Given the description of an element on the screen output the (x, y) to click on. 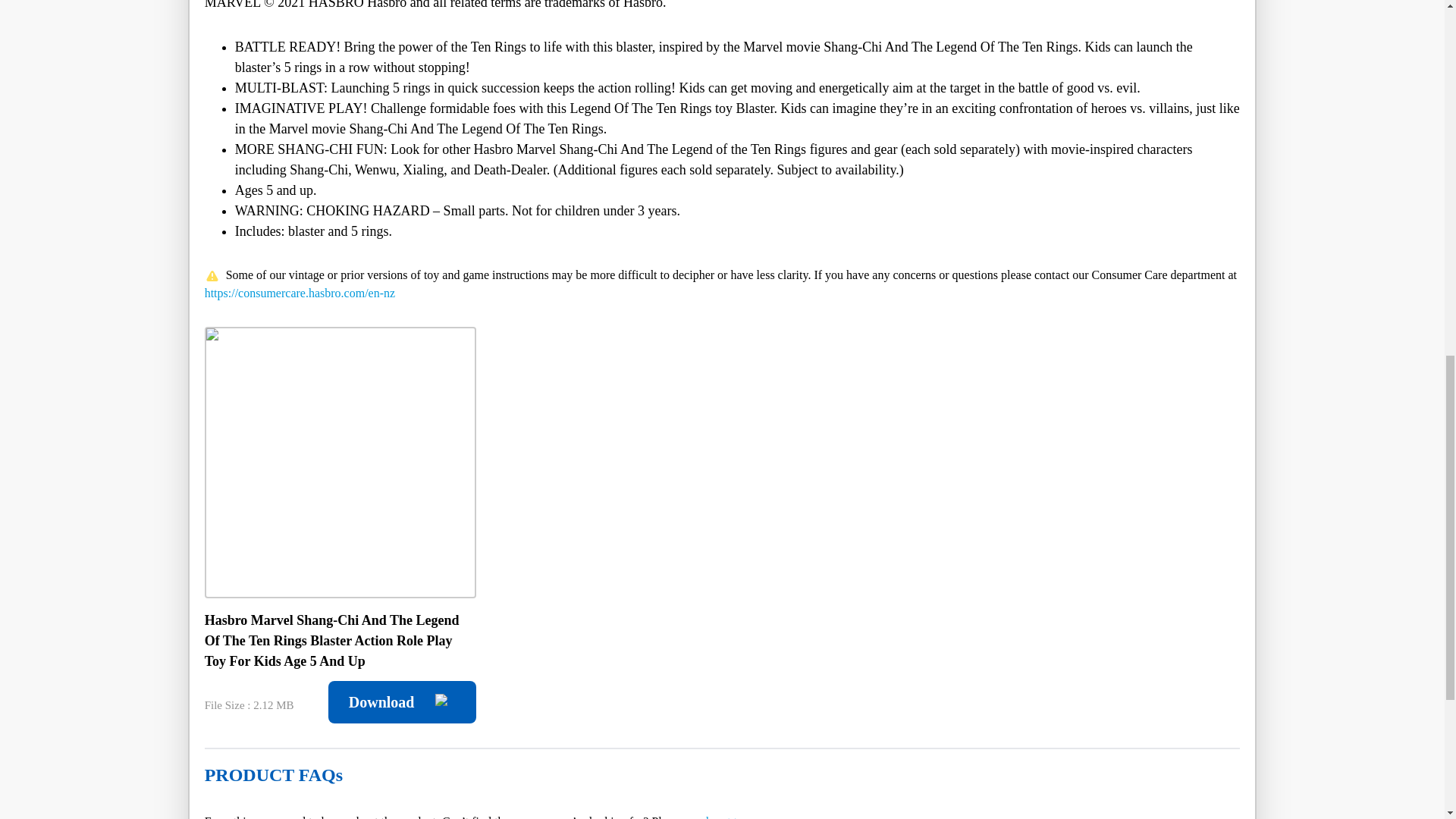
Download (402, 701)
reach out to us. (722, 816)
